Given the description of an element on the screen output the (x, y) to click on. 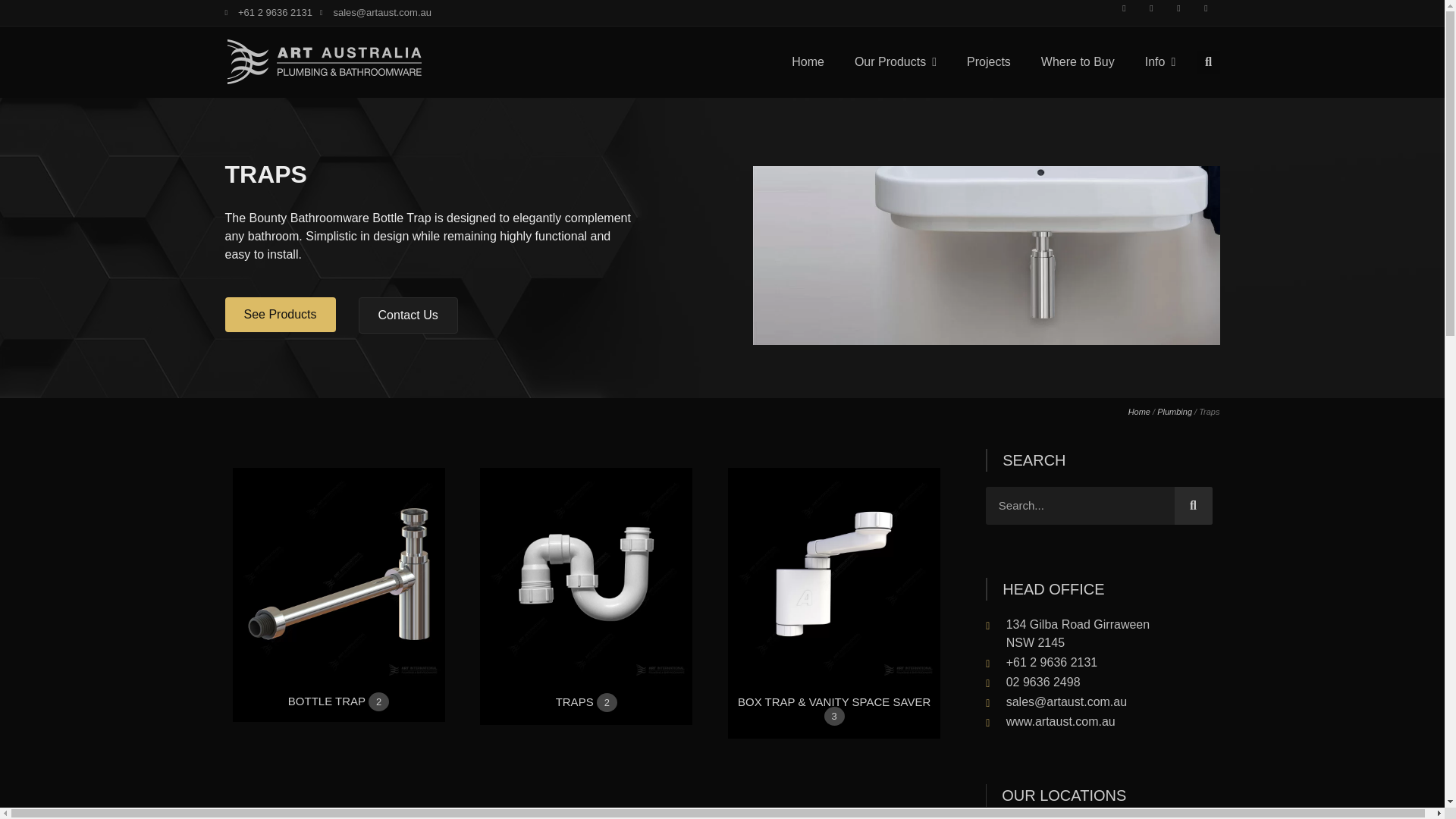
Home (808, 62)
Our Products (896, 62)
